Given the description of an element on the screen output the (x, y) to click on. 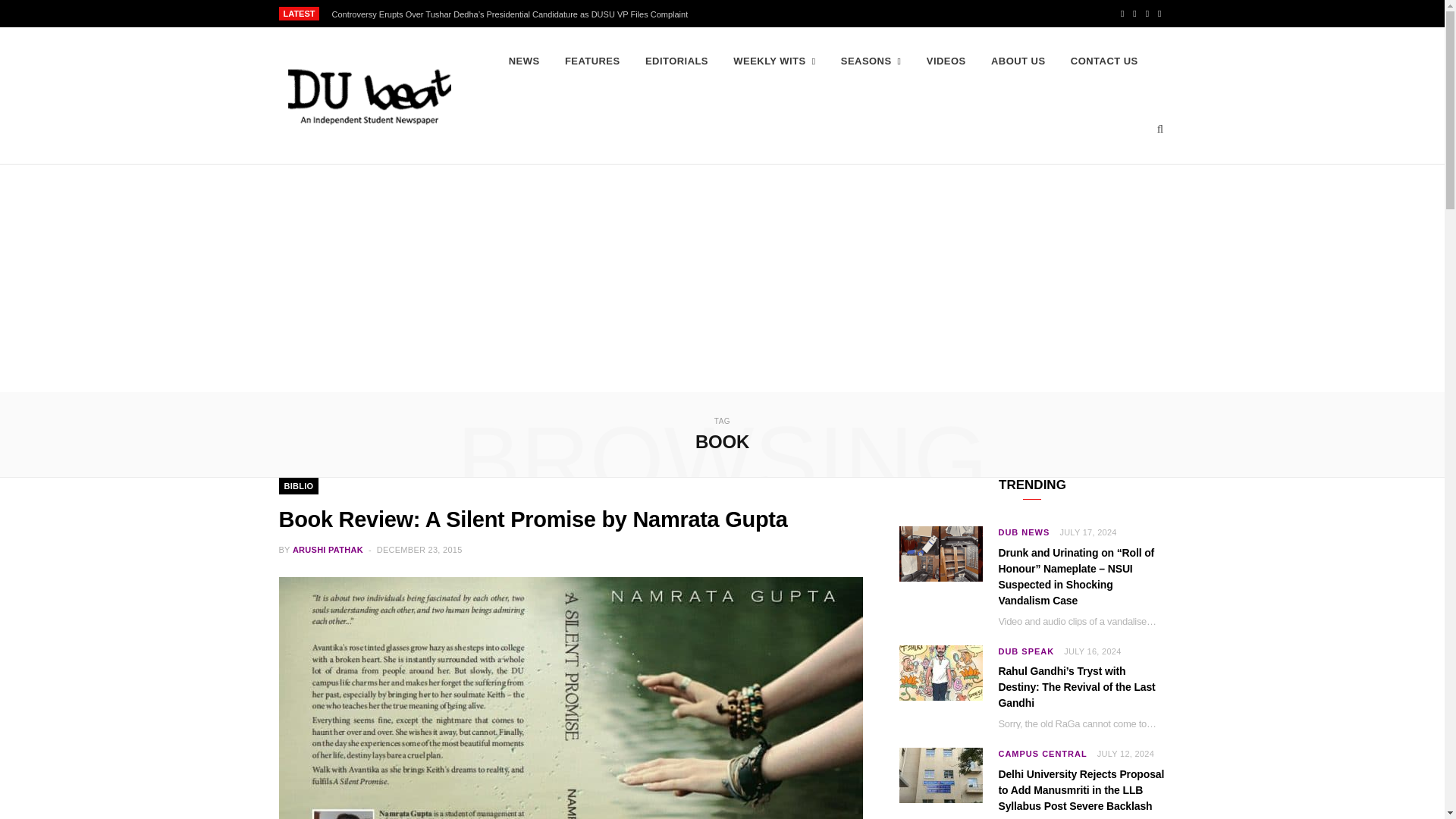
EDITORIALS (676, 61)
FEATURES (592, 61)
WEEKLY WITS (774, 61)
